Given the description of an element on the screen output the (x, y) to click on. 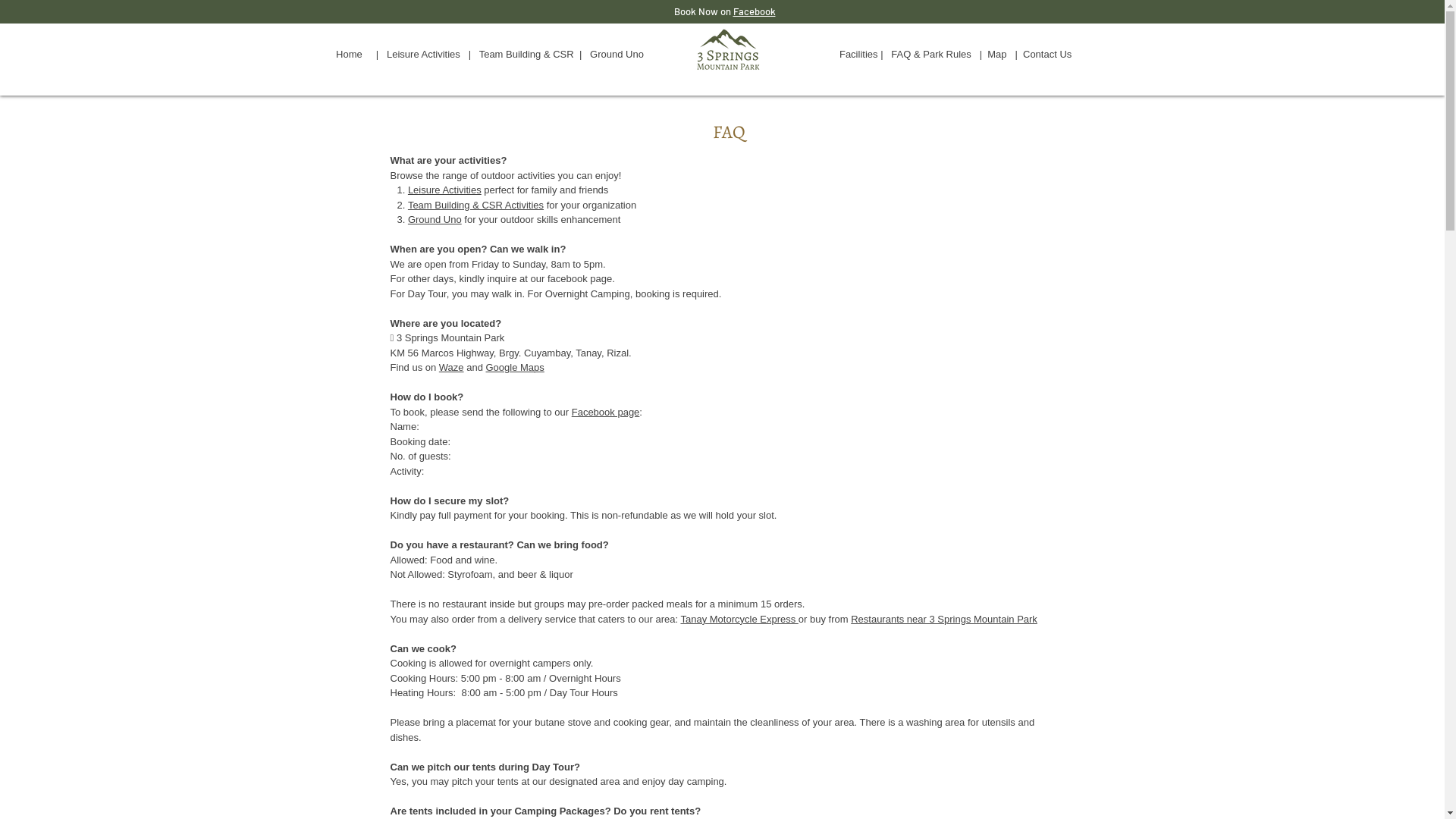
Leisure Activities Element type: text (444, 189)
  Element type: text (832, 53)
Facebook page Element type: text (605, 411)
Waze Element type: text (451, 367)
Restaurants near 3 Springs Mountain Park Element type: text (943, 618)
 Team Building & CSR Element type: text (523, 53)
Google Maps Element type: text (514, 367)
Facebook Element type: text (753, 11)
FAQ & Park Rules Element type: text (930, 53)
Ground Uno Element type: text (616, 53)
Leisure Activities    Element type: text (427, 53)
Home Element type: text (348, 53)
Ground Uno Element type: text (434, 219)
Tanay Motorcycle Express  Element type: text (738, 618)
Facilities  Element type: text (859, 53)
Team Building & CSR Activities Element type: text (475, 204)
Map    Element type: text (1000, 53)
Contact Us  Element type: text (1048, 53)
